Given the description of an element on the screen output the (x, y) to click on. 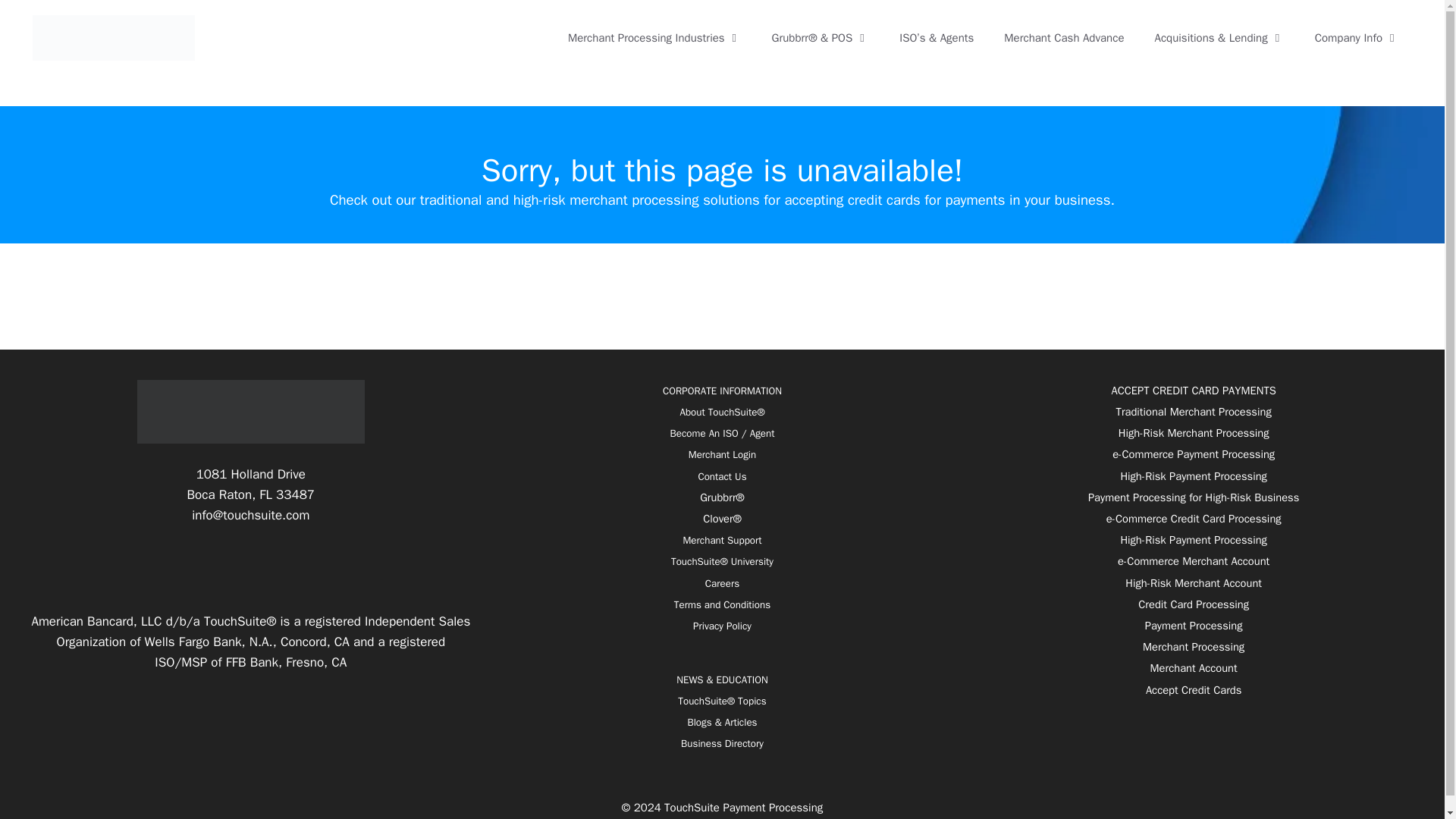
Merchant Login (721, 454)
Merchant Processing Industries (655, 37)
Merchant Cash Advance (1063, 37)
Company Info (1356, 37)
